Given the description of an element on the screen output the (x, y) to click on. 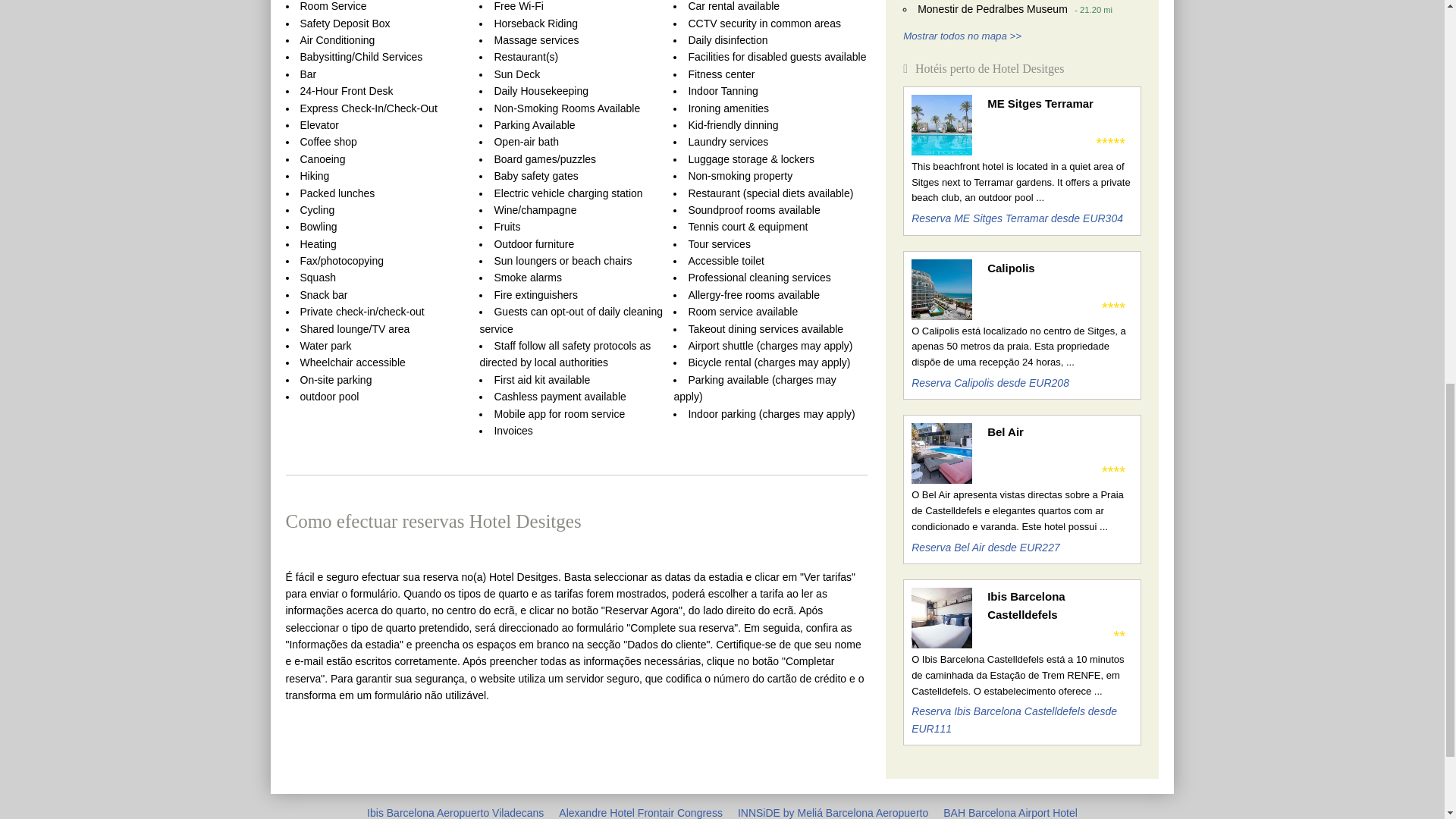
BAH Barcelona Airport Hotel (1010, 812)
Ibis Barcelona Castelldefels (1059, 606)
Reserva Calipolis desde EUR208 (989, 382)
Alexandre Hotel Frontair Congress (640, 812)
Bel Air (1059, 432)
Ibis Barcelona Aeropuerto Viladecans (454, 812)
Reserva Bel Air desde EUR227 (985, 547)
Reserva Ibis Barcelona Castelldefels desde EUR111 (1013, 719)
Calipolis (1059, 268)
ME Sitges Terramar (1059, 104)
Reserva ME Sitges Terramar desde EUR304 (1016, 218)
